Given the description of an element on the screen output the (x, y) to click on. 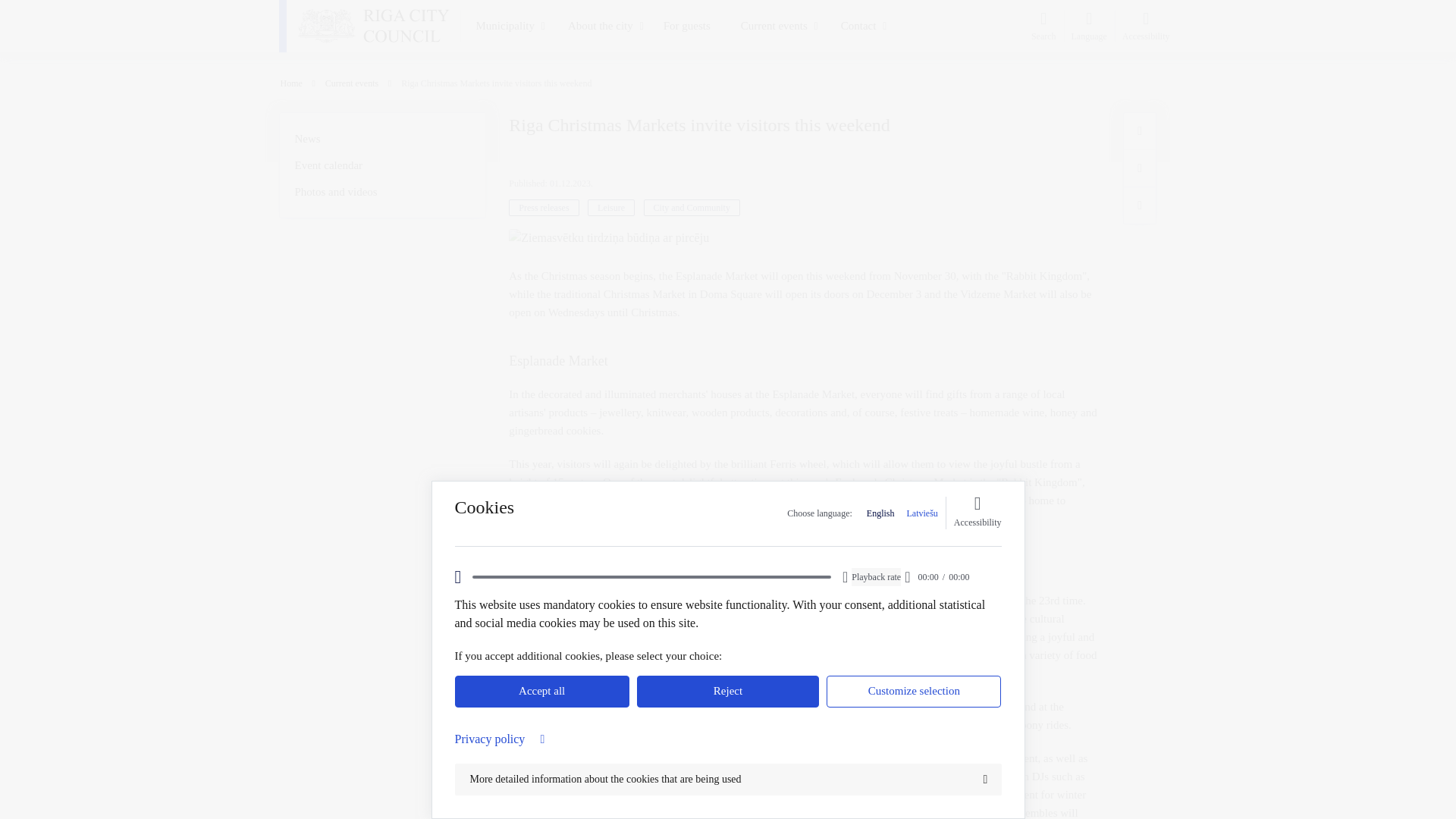
Privacy policy (727, 739)
Playback rate (876, 577)
English (880, 513)
Accessibility (977, 512)
